Given the description of an element on the screen output the (x, y) to click on. 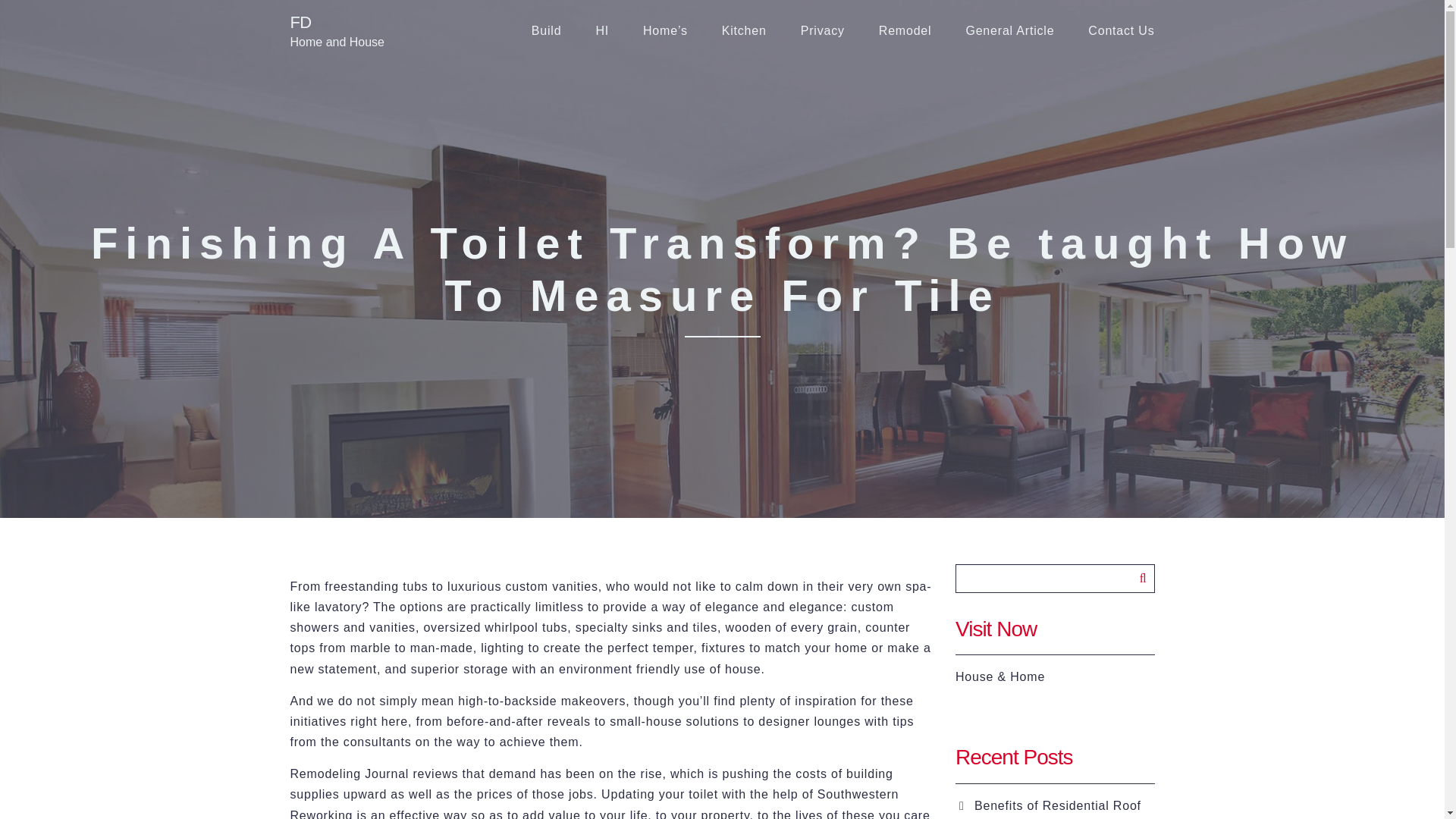
Contact Us (1120, 30)
General Article (1009, 30)
FD (336, 22)
